Given the description of an element on the screen output the (x, y) to click on. 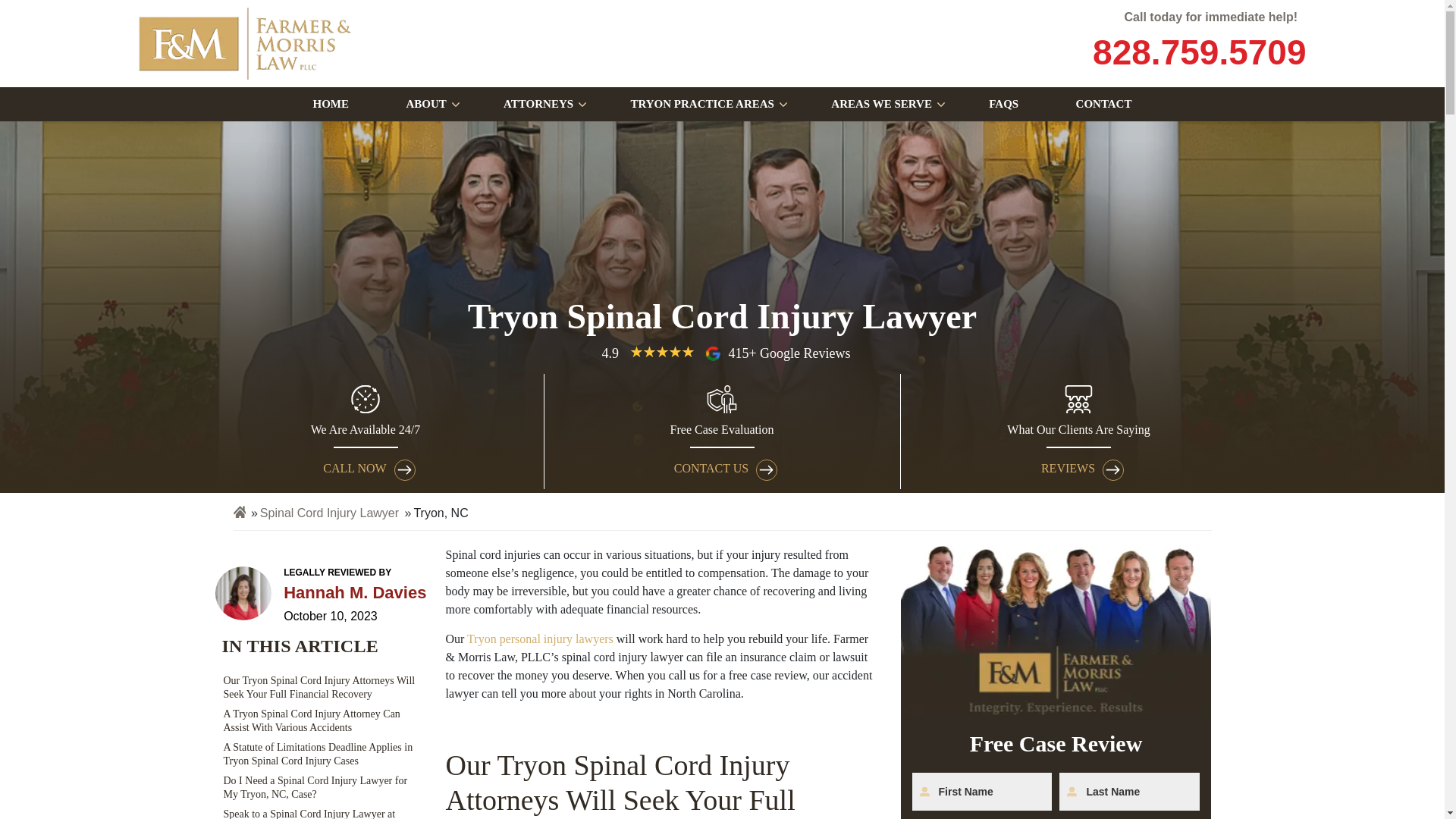
Spinal Cord Injury Lawyer (329, 512)
HOME (331, 103)
FAQS (1002, 103)
828.759.5709 (1197, 52)
ABOUT (425, 103)
ATTORNEYS (538, 103)
AREAS WE SERVE (881, 103)
CONTACT (1103, 103)
